Given the description of an element on the screen output the (x, y) to click on. 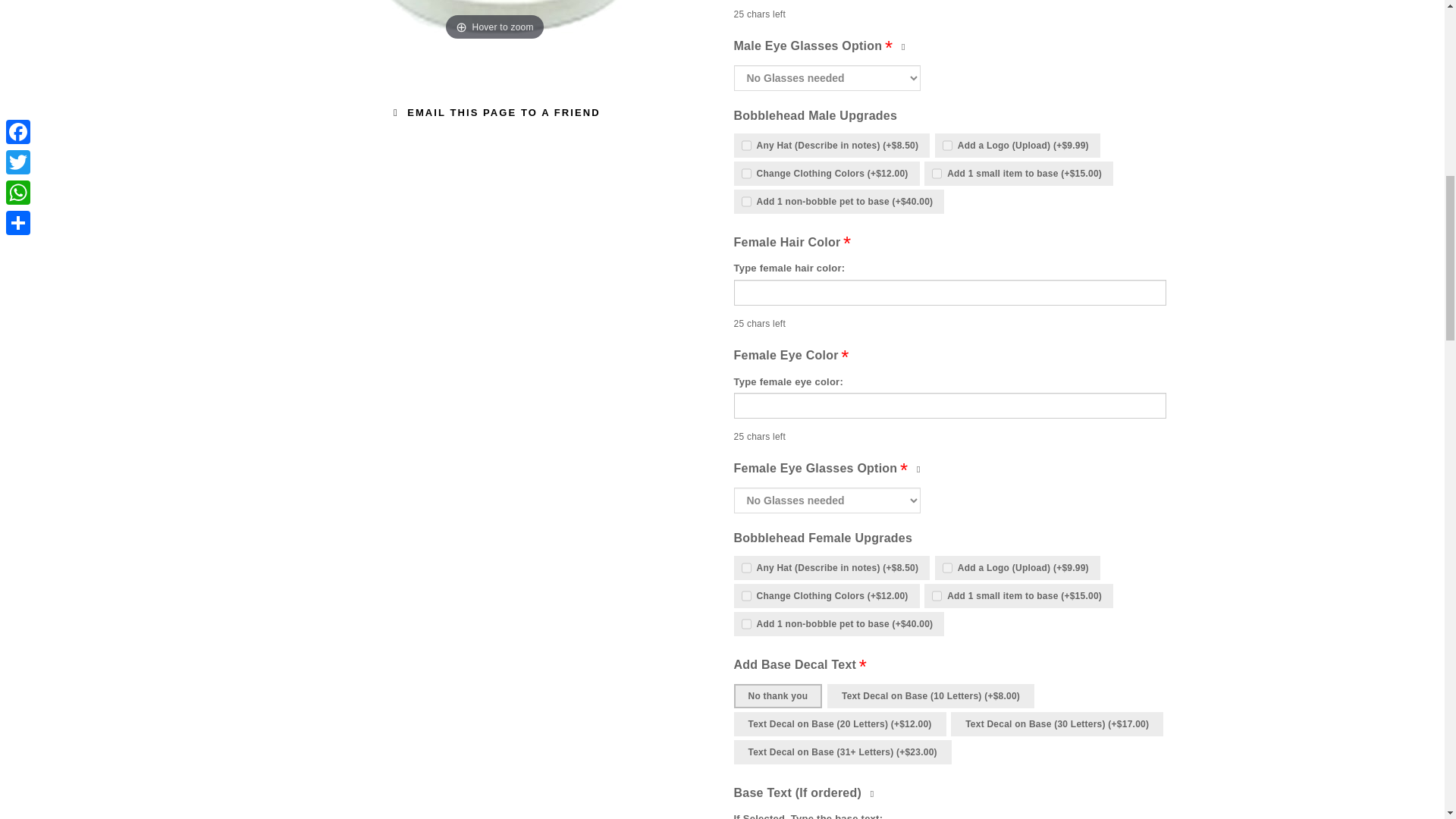
No thank you (777, 695)
